Given the description of an element on the screen output the (x, y) to click on. 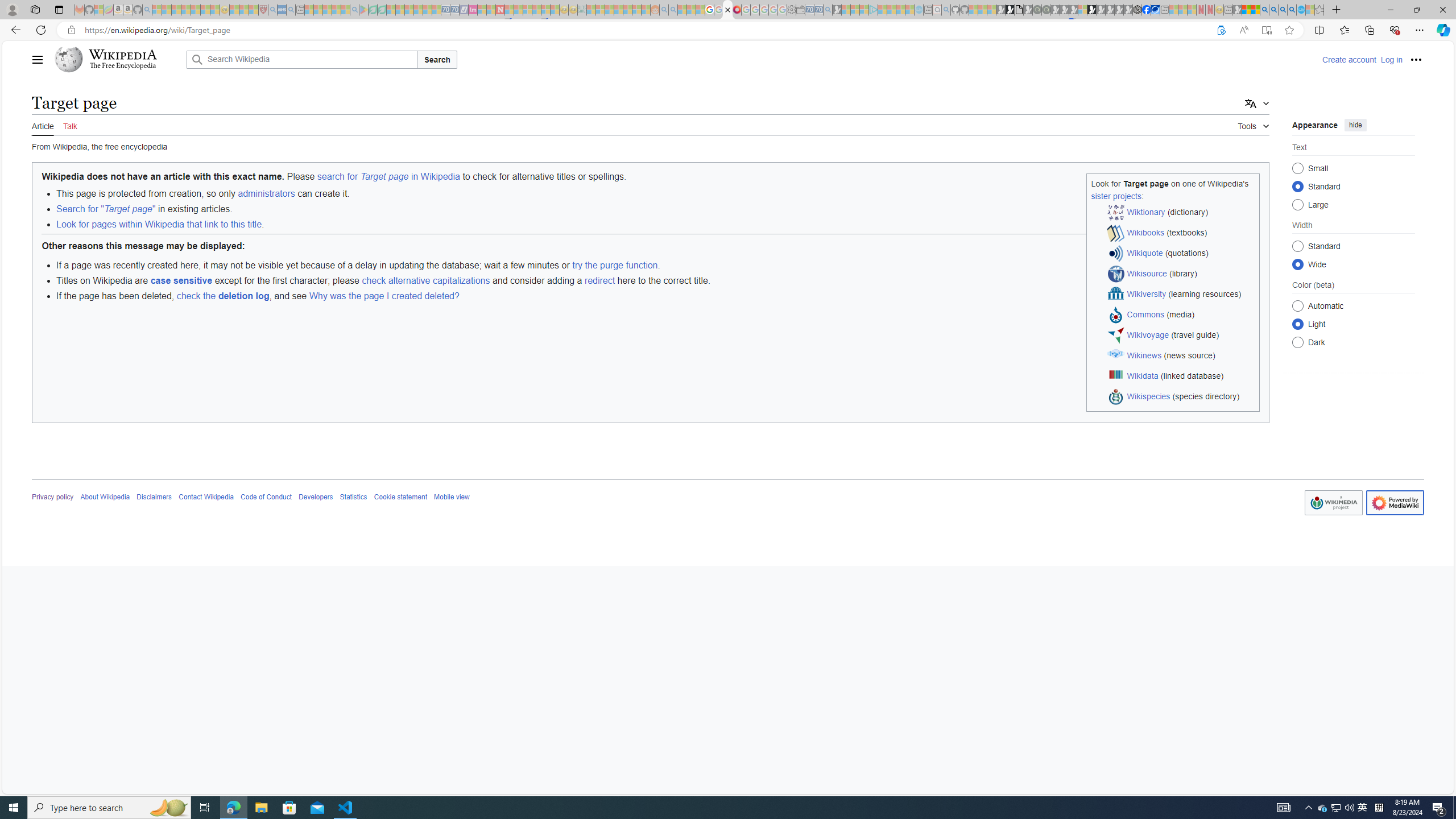
Create account (1348, 58)
Wikipedia The Free Encyclopedia (117, 59)
Wallet - Sleeping (799, 9)
Article (42, 124)
MSNBC - MSN - Sleeping (590, 9)
Standard (1297, 245)
The Free Encyclopedia (121, 65)
Tools (1253, 124)
Cheap Hotels - Save70.com - Sleeping (454, 9)
Favorites - Sleeping (1318, 9)
Developers (315, 496)
